Given the description of an element on the screen output the (x, y) to click on. 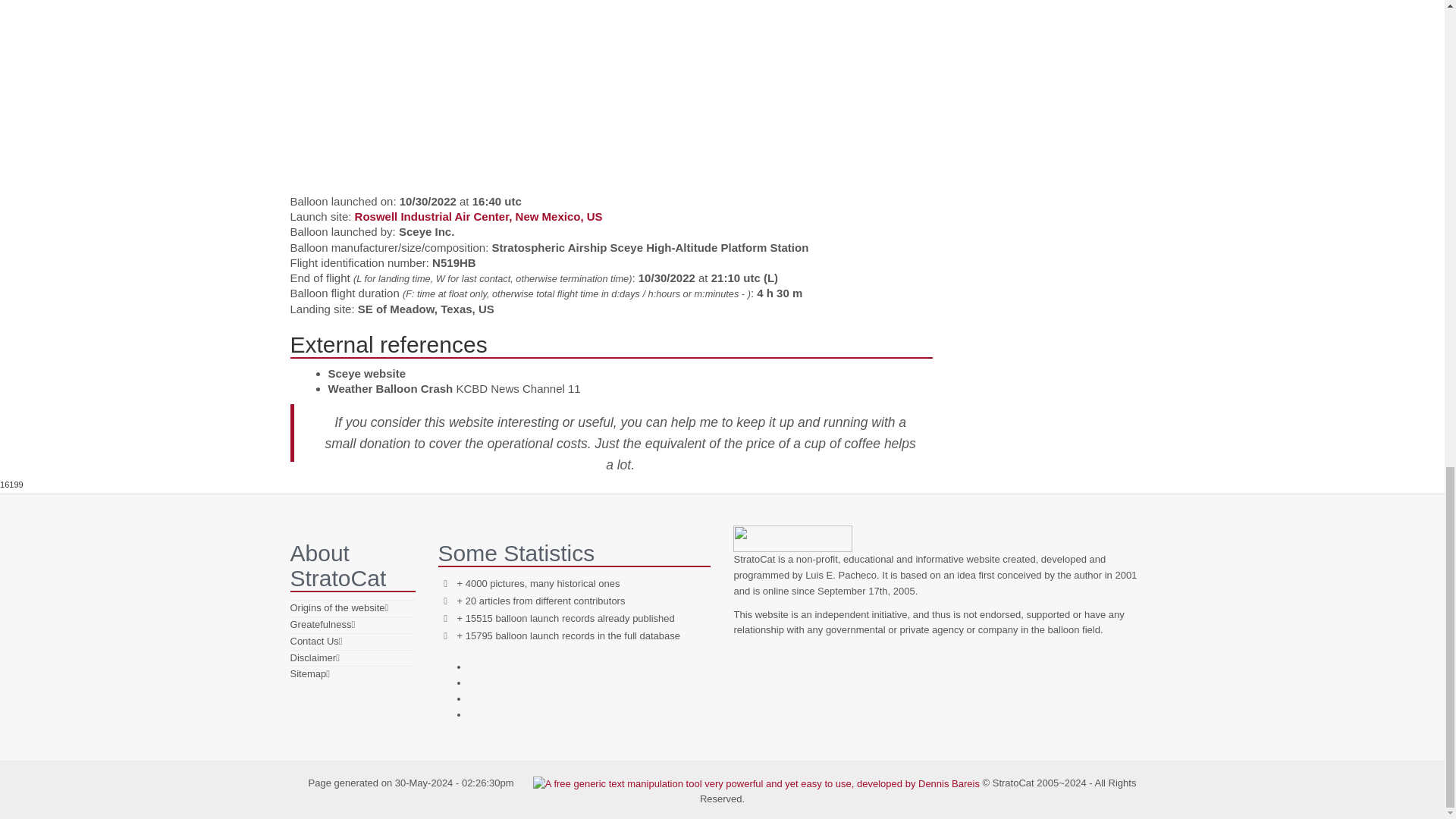
Origins of the website (336, 607)
Greatefulness (319, 624)
Roswell Industrial Air Center, New Mexico, US (478, 215)
Sceye website (366, 373)
Disclaimer (312, 657)
Sitemap (307, 673)
Contact Us (313, 641)
Weather Balloon Crash (389, 388)
